Given the description of an element on the screen output the (x, y) to click on. 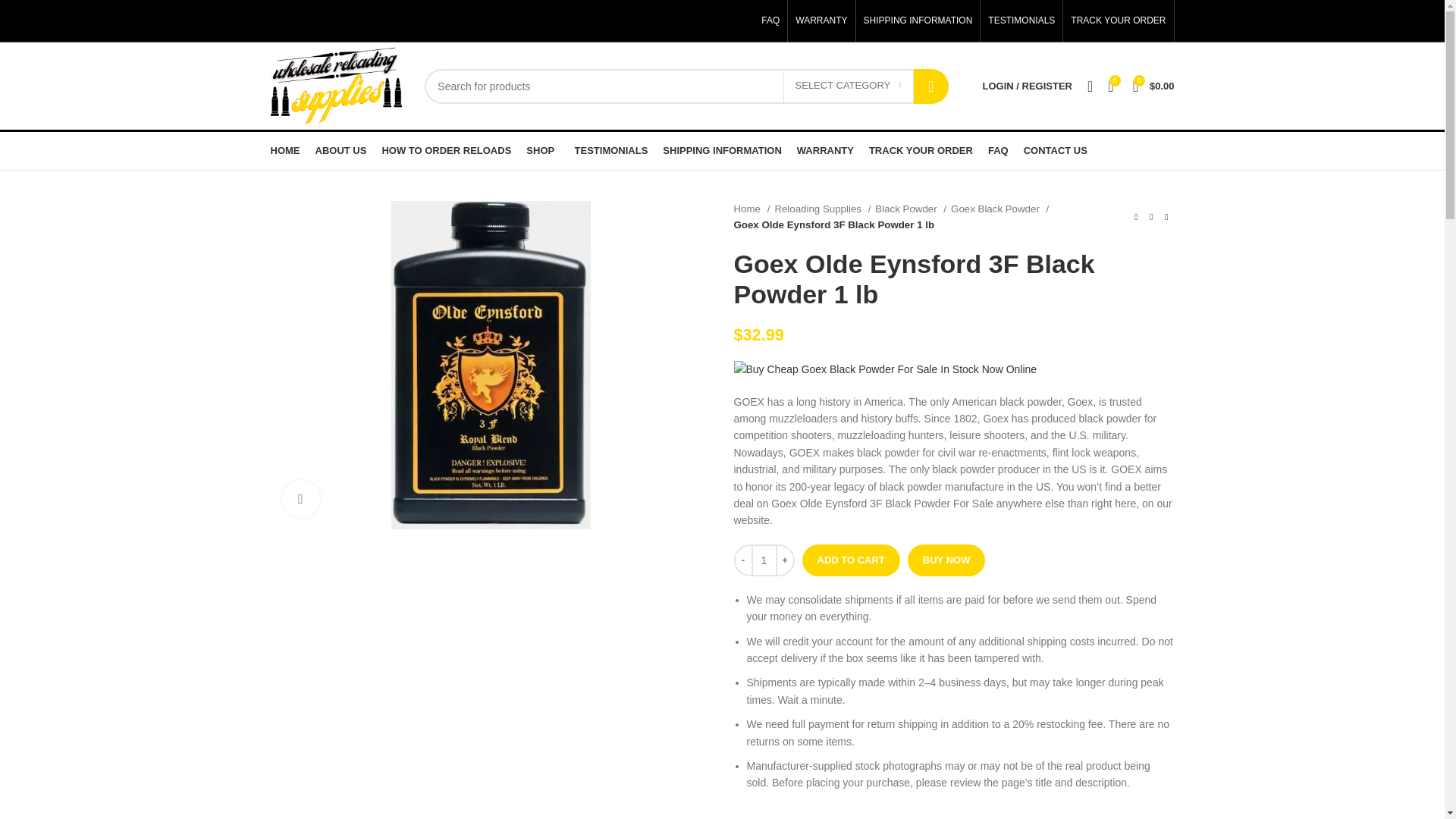
Qty (763, 560)
1 (763, 560)
FAQ (769, 20)
WARRANTY (820, 20)
TRACK YOUR ORDER (1118, 20)
My Wishlist (1090, 86)
Shopping cart (1153, 86)
SELECT CATEGORY (848, 85)
SELECT CATEGORY (848, 85)
- (742, 560)
SHIPPING INFORMATION (917, 20)
Compare products (1110, 86)
TESTIMONIALS (1021, 20)
Search for products (686, 85)
